Given the description of an element on the screen output the (x, y) to click on. 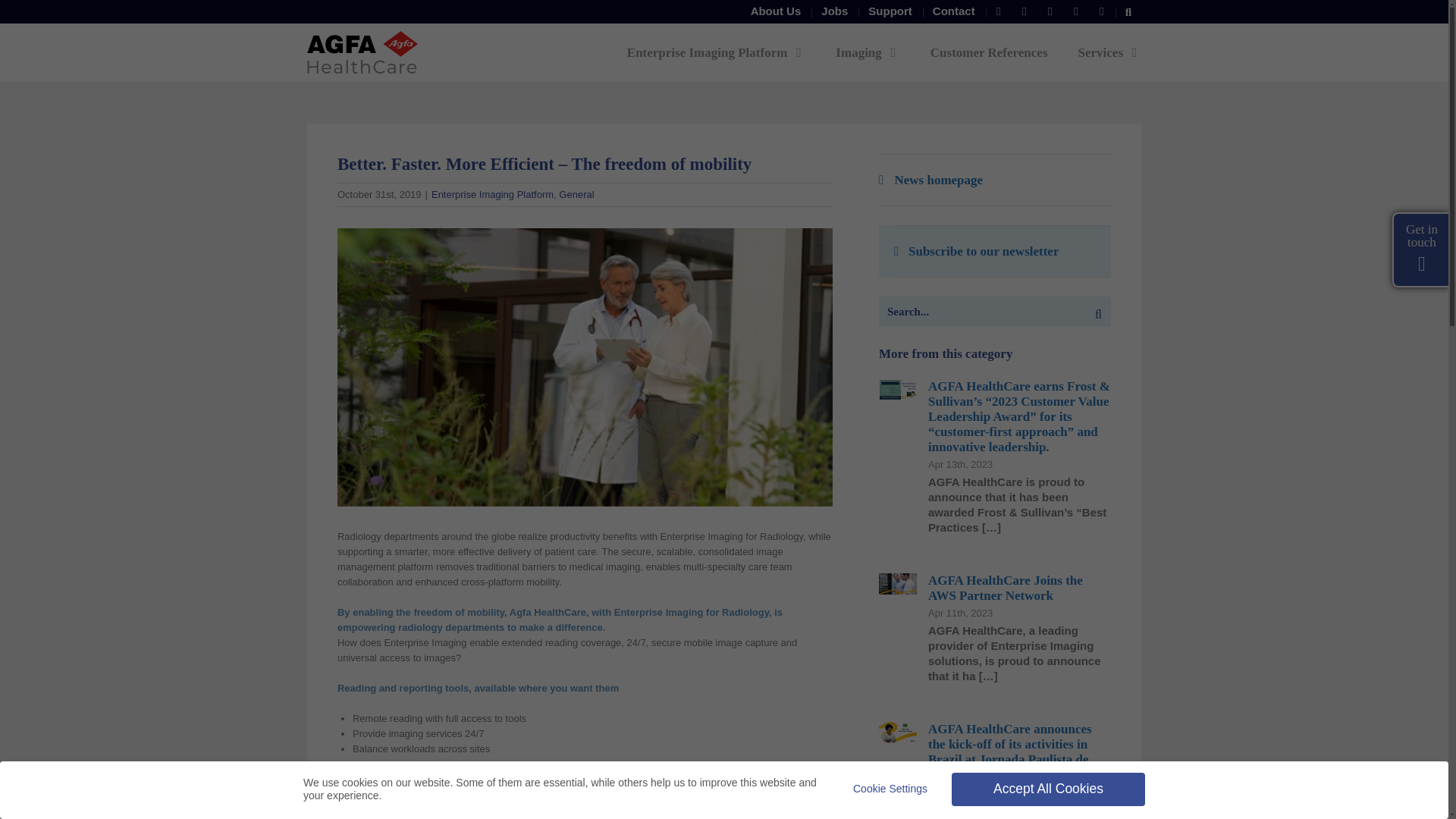
Search (1128, 11)
Support (890, 11)
Imaging (867, 52)
About Us (775, 11)
Jobs (833, 11)
Enterprise Imaging Platform (716, 52)
Contact (954, 11)
